Given the description of an element on the screen output the (x, y) to click on. 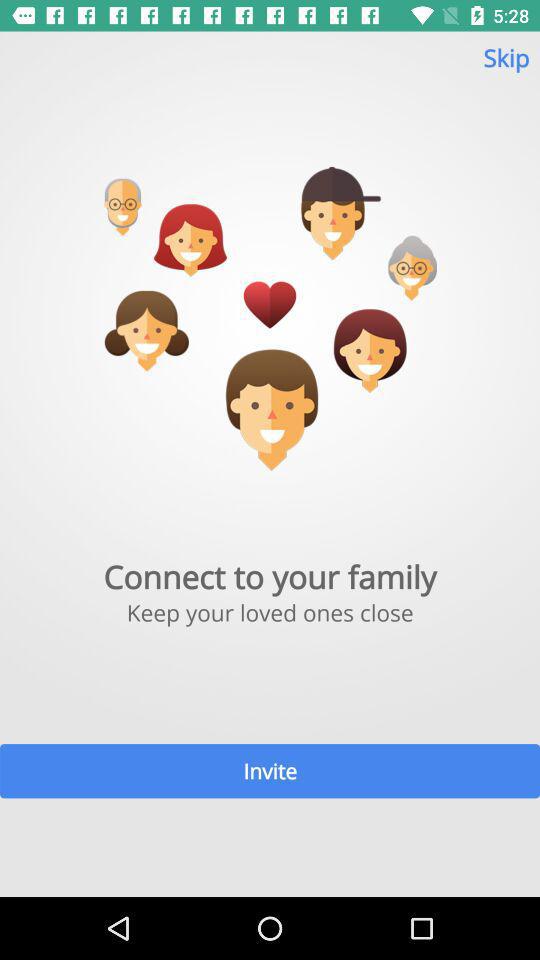
jump until the skip item (506, 66)
